Given the description of an element on the screen output the (x, y) to click on. 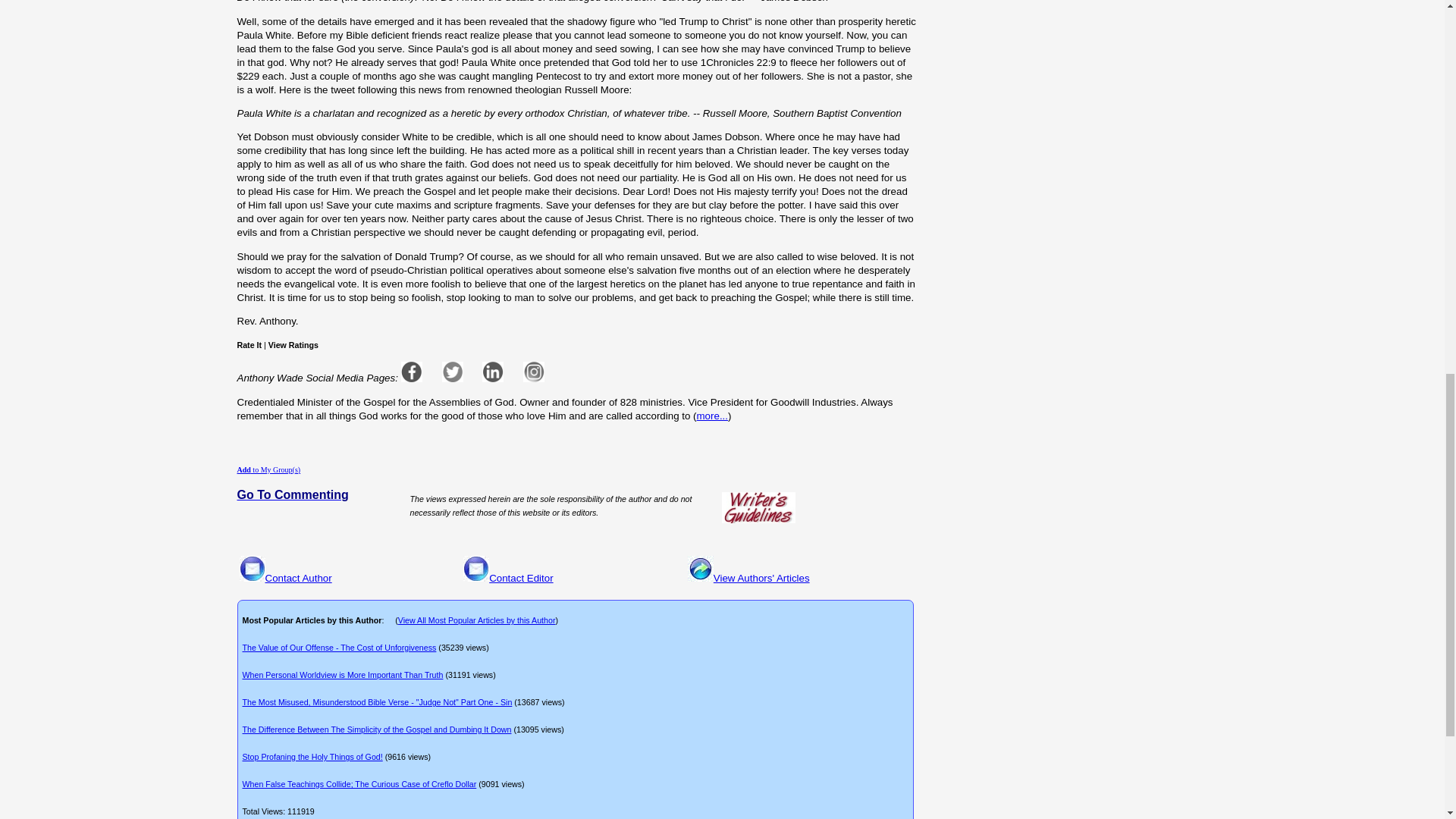
View Ratings (292, 344)
Linkedin page url on login Profile not filled in (492, 371)
The Value of Our Offense - The Cost of Unforgiveness (339, 646)
View Authors' Articles (761, 577)
Facebook page url on login Profile not filled in (411, 371)
Contact Editor (521, 577)
Twitter page url on login Profile not filled in (452, 371)
Contact Author (297, 577)
Writers Guidelines (758, 508)
more... (712, 415)
View All Most Popular Articles by this Author (476, 619)
Go To Commenting (291, 495)
